Given the description of an element on the screen output the (x, y) to click on. 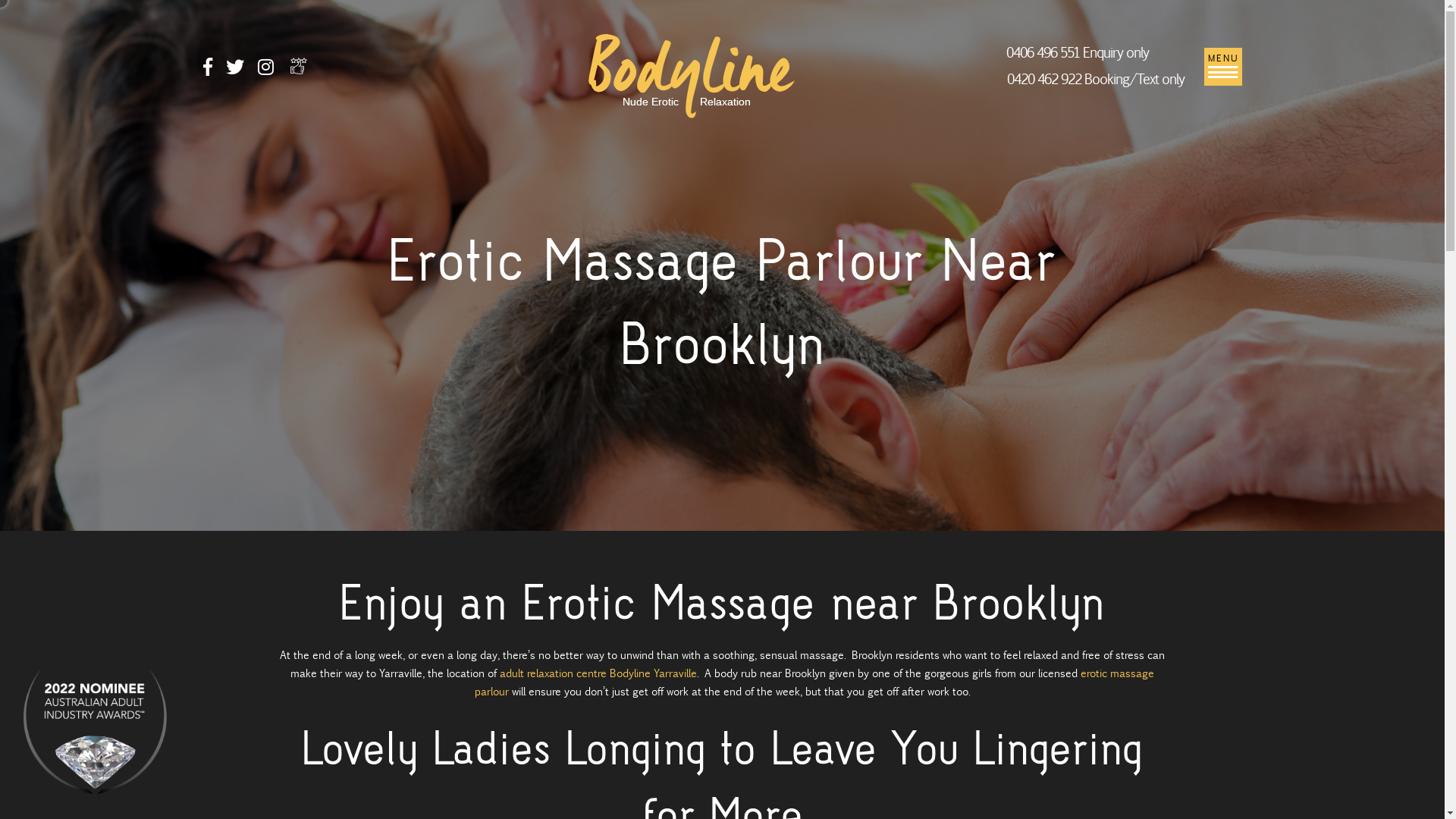
Facebook Element type: hover (207, 69)
Bodyline Yarraville Element type: hover (691, 74)
0406 496 551 Enquiry only Element type: text (1077, 52)
erotic massage parlour Element type: text (814, 681)
0420 462 922 Booking/Text only Element type: text (1095, 78)
Instagram Element type: hover (265, 69)
adult relaxation centre Bodyline Yarraville Element type: text (597, 672)
Google Reviews Element type: hover (297, 66)
Twitter Element type: hover (234, 69)
